Given the description of an element on the screen output the (x, y) to click on. 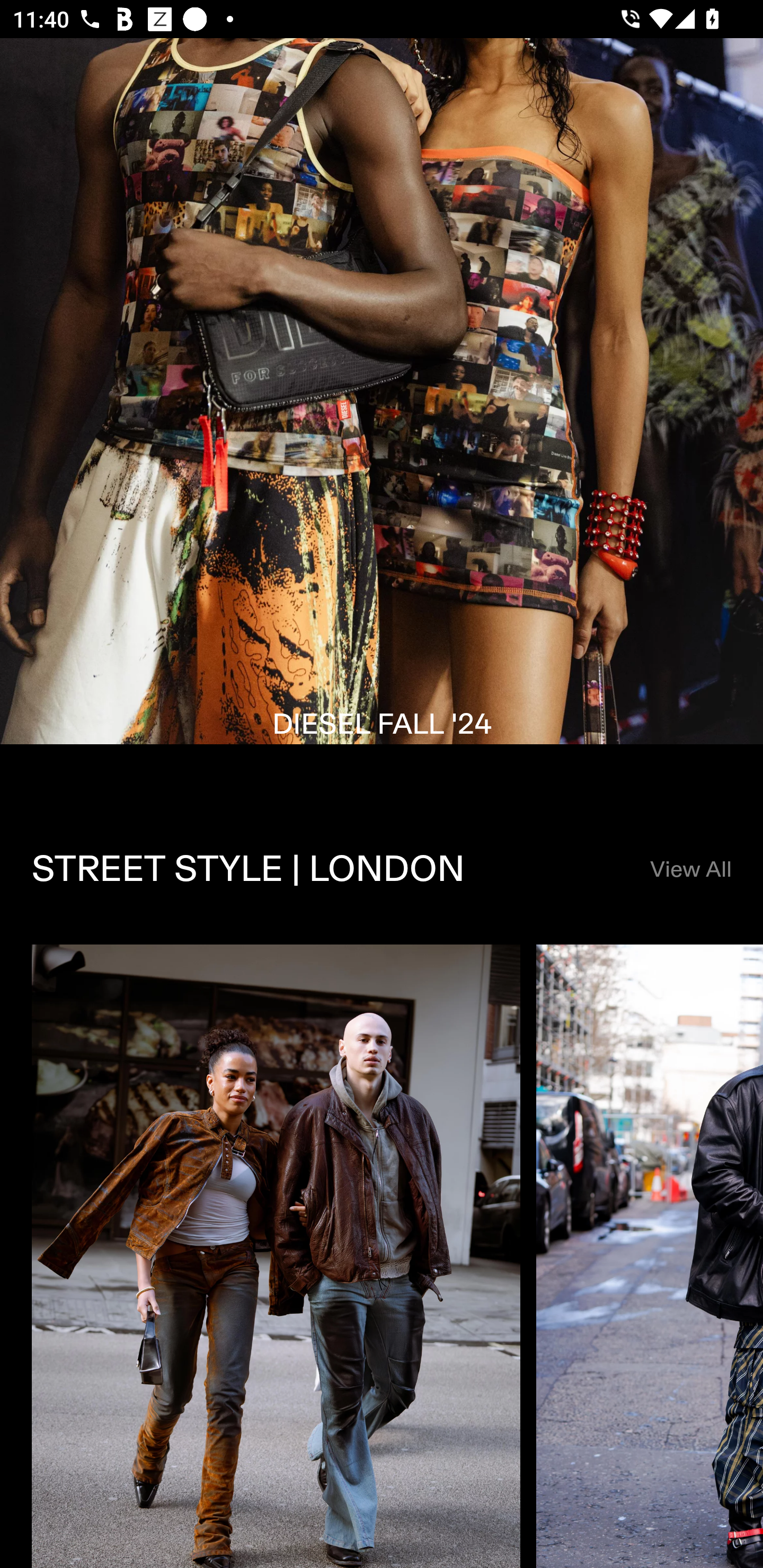
FIRST LOOKS DIESEL FALL '24 (381, 415)
View All (690, 870)
